Given the description of an element on the screen output the (x, y) to click on. 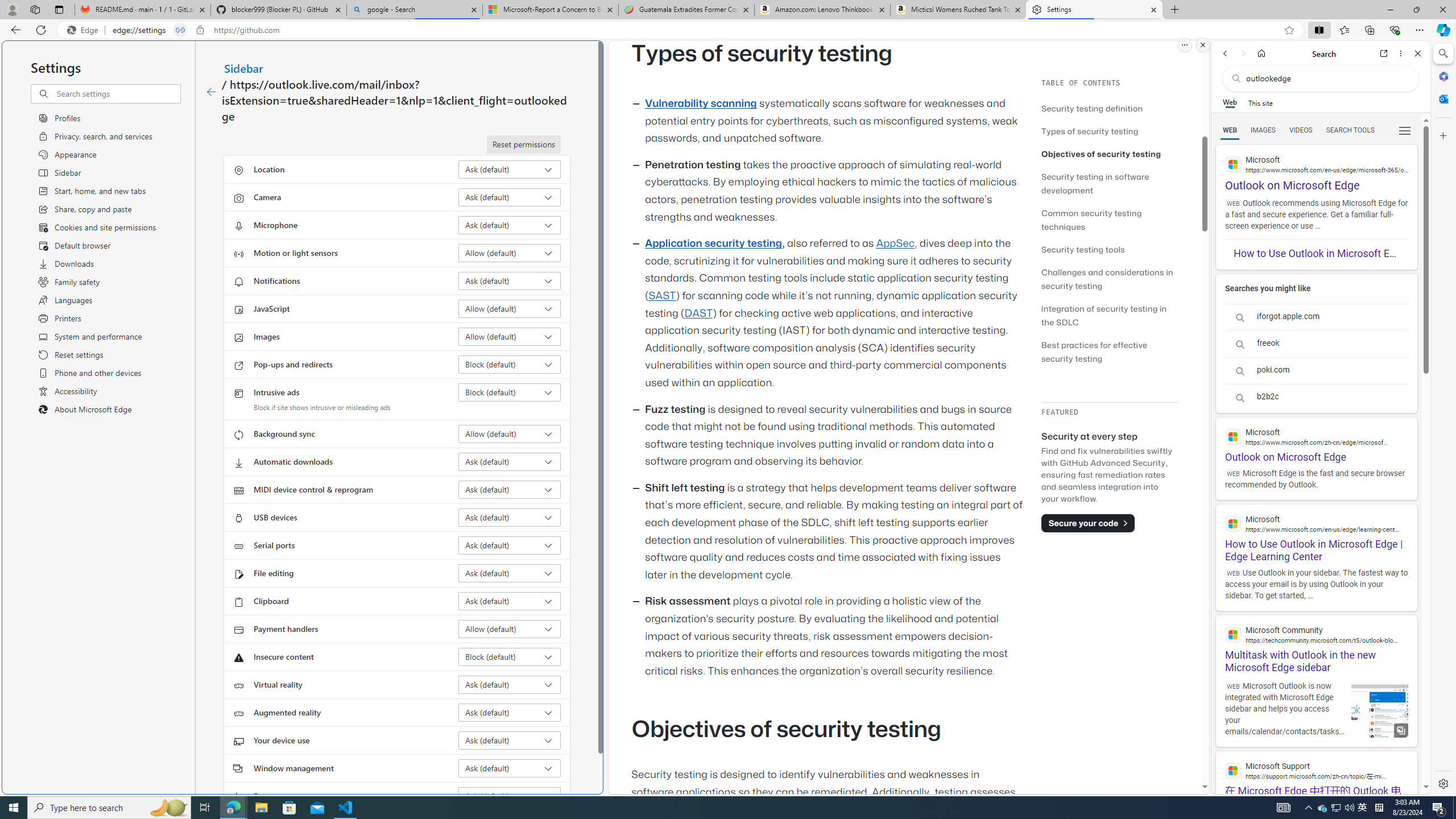
Fonts Ask (default) (509, 796)
Edge (84, 29)
poki.com (1315, 370)
Tabs in split screen (180, 29)
JavaScript Allow (default) (509, 308)
Microsoft Community (1315, 634)
Search Filter, Search Tools (1350, 129)
Your device use Ask (default) (509, 740)
WEB   (1230, 130)
Common security testing techniques (1091, 219)
